Given the description of an element on the screen output the (x, y) to click on. 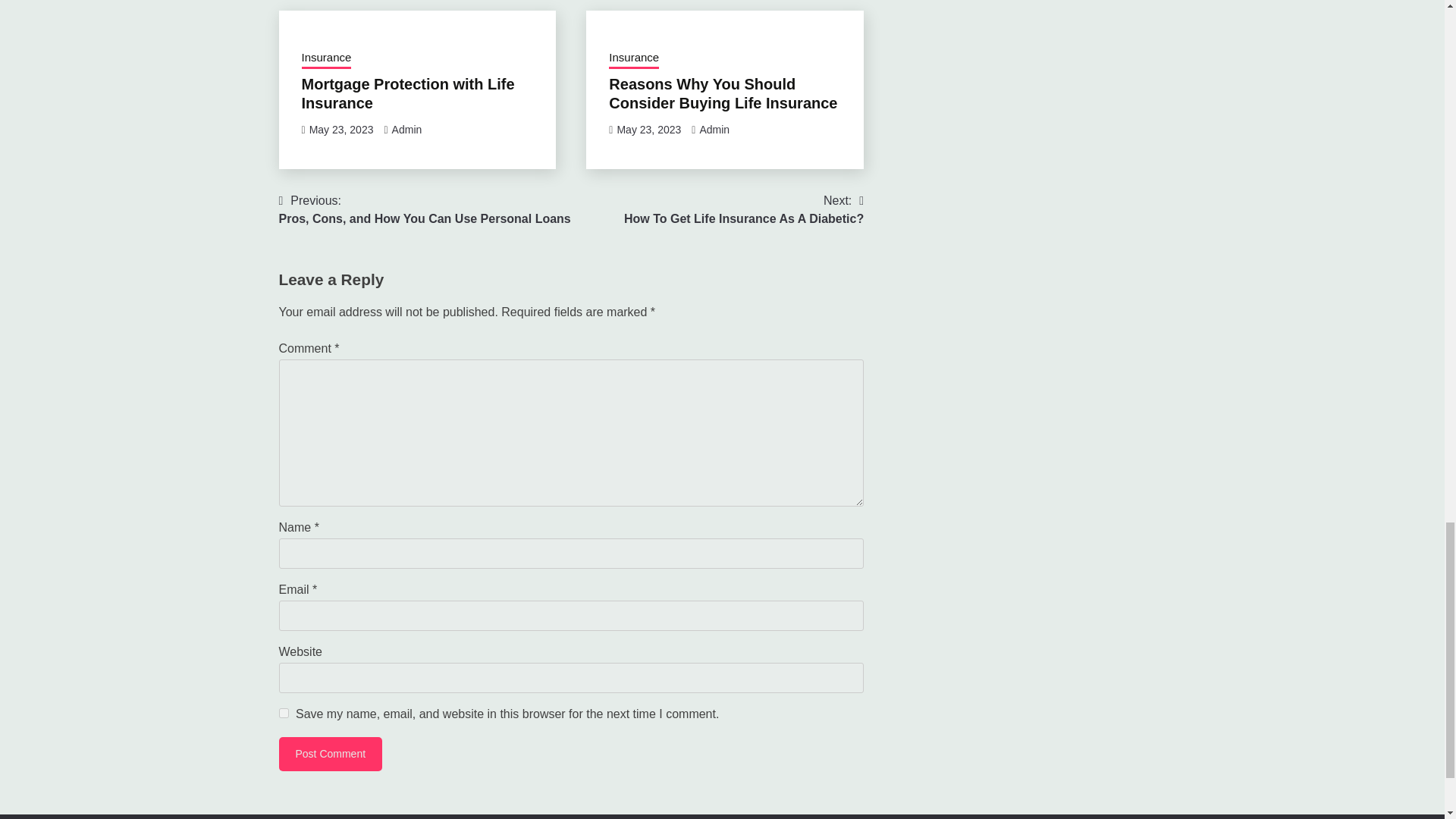
Insurance (633, 58)
May 23, 2023 (341, 129)
Post Comment (330, 754)
Admin (713, 129)
Reasons Why You Should Consider Buying Life Insurance (722, 93)
Post Comment (330, 754)
Admin (406, 129)
May 23, 2023 (648, 129)
Insurance (326, 58)
